Given the description of an element on the screen output the (x, y) to click on. 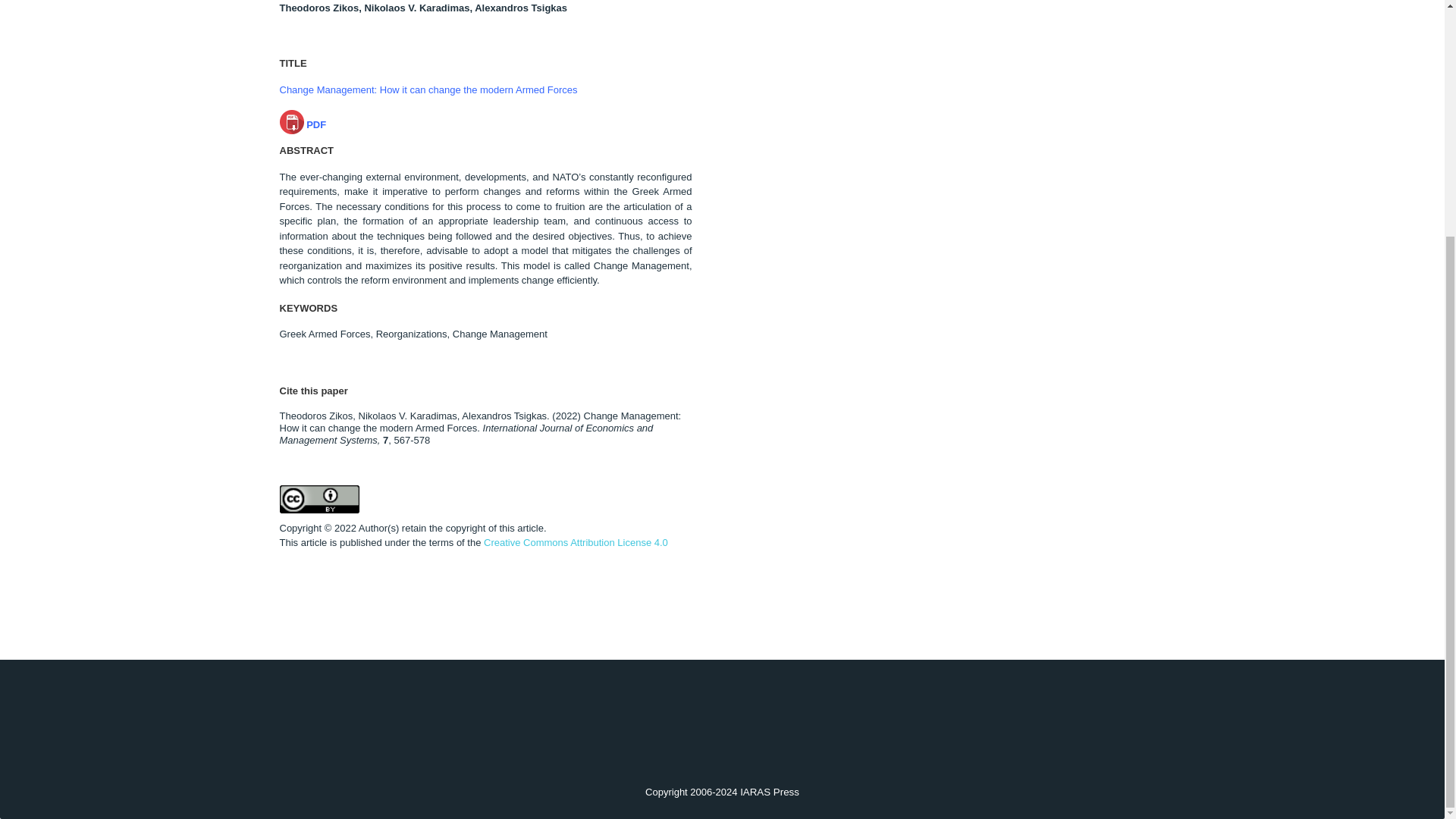
Change Management: How it can change the modern Armed Forces (427, 89)
 PDF (302, 124)
